Given the description of an element on the screen output the (x, y) to click on. 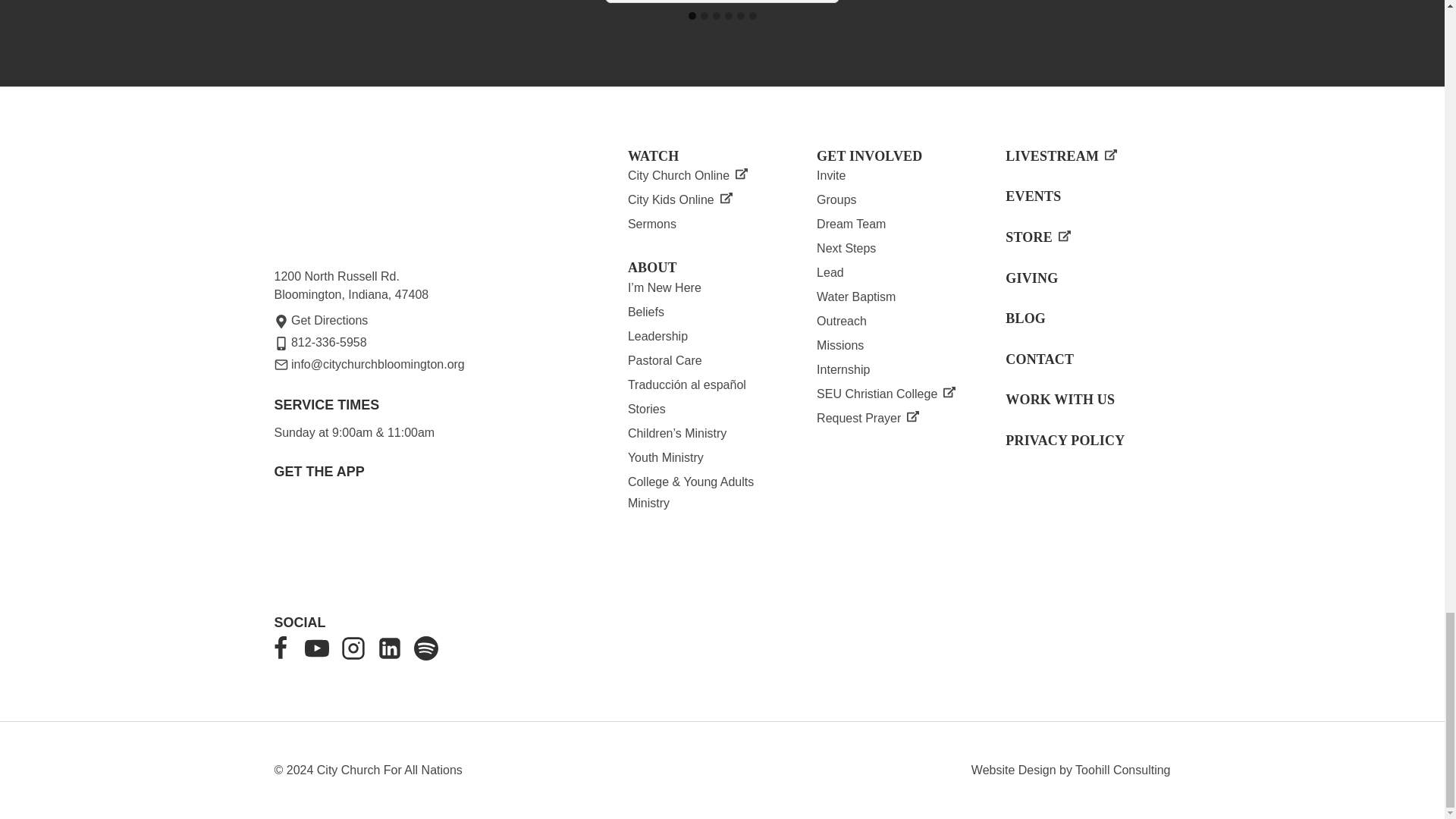
Download on the App Store (320, 542)
Toohill Consulting (1122, 769)
Get Directions to City Church (321, 319)
Download on the App Store (422, 536)
